Given the description of an element on the screen output the (x, y) to click on. 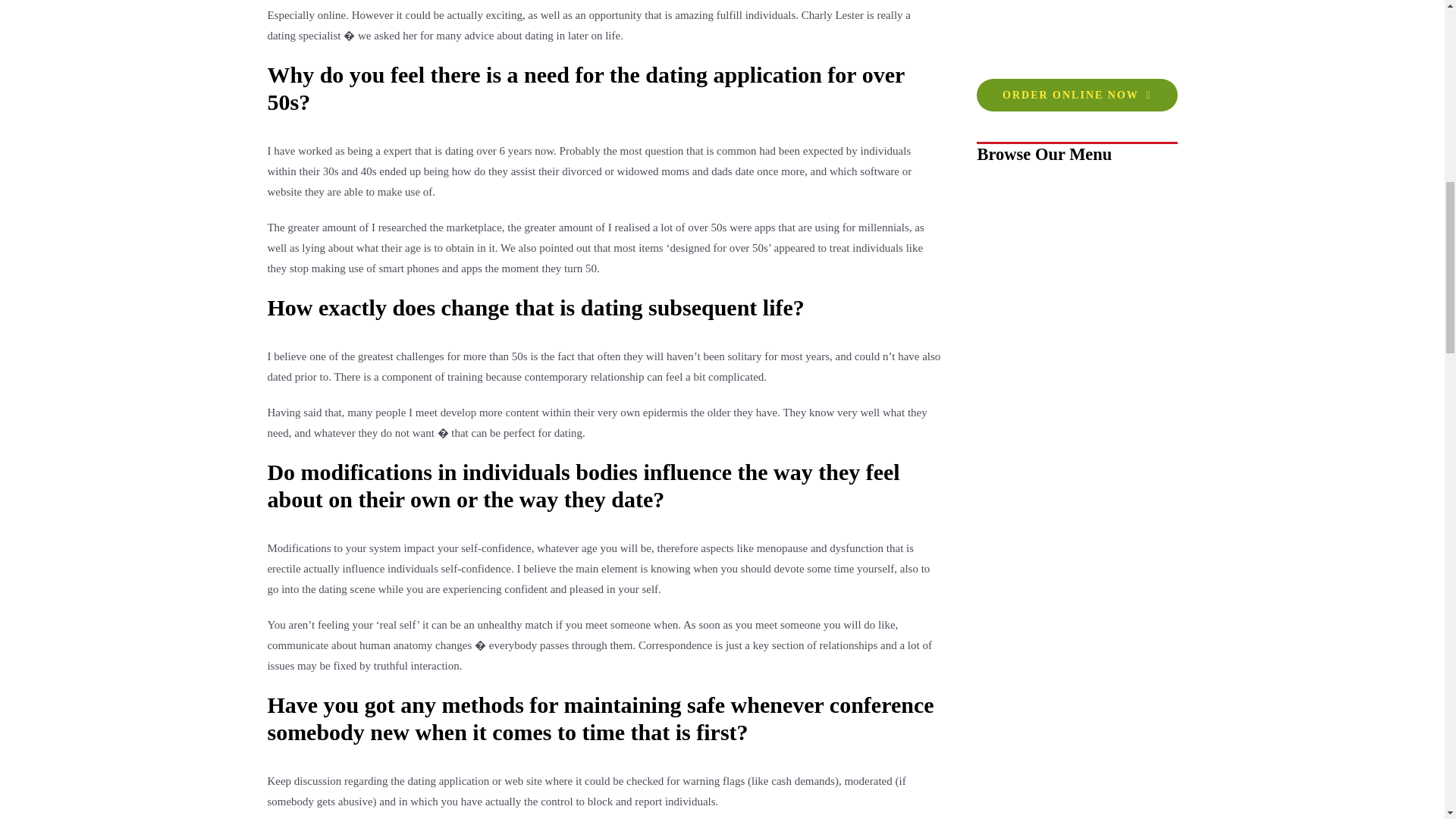
ORDER ONLINE NOW (1076, 94)
